Given the description of an element on the screen output the (x, y) to click on. 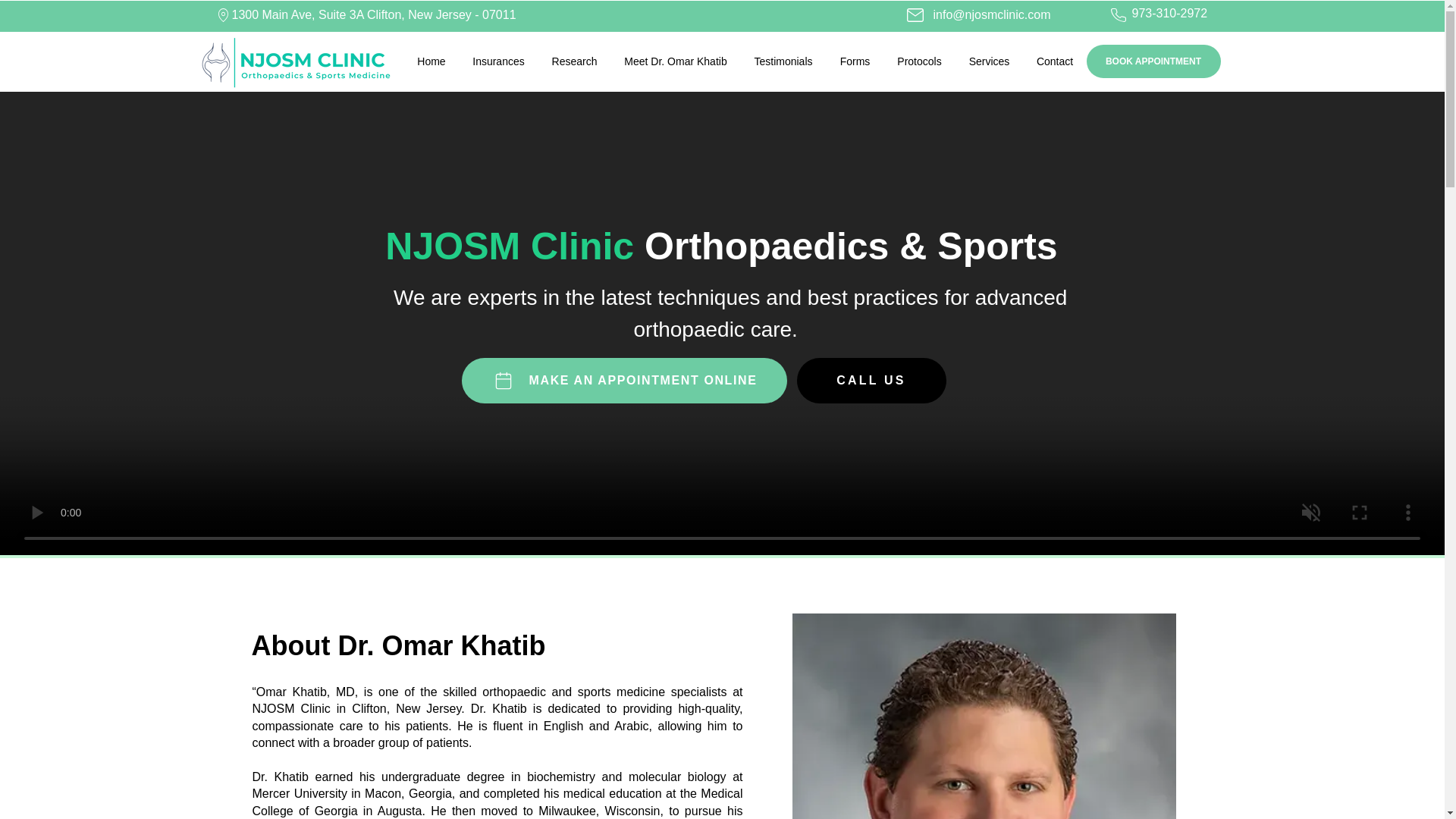
Research (574, 61)
CALL US (870, 380)
Protocols (919, 61)
MAKE AN APPOINTMENT ONLINE (623, 380)
973-310-2972 (1169, 12)
BOOK APPOINTMENT (1153, 61)
Meet Dr. Omar Khatib (676, 61)
Forms (855, 61)
Testimonials (782, 61)
Home (430, 61)
